Given the description of an element on the screen output the (x, y) to click on. 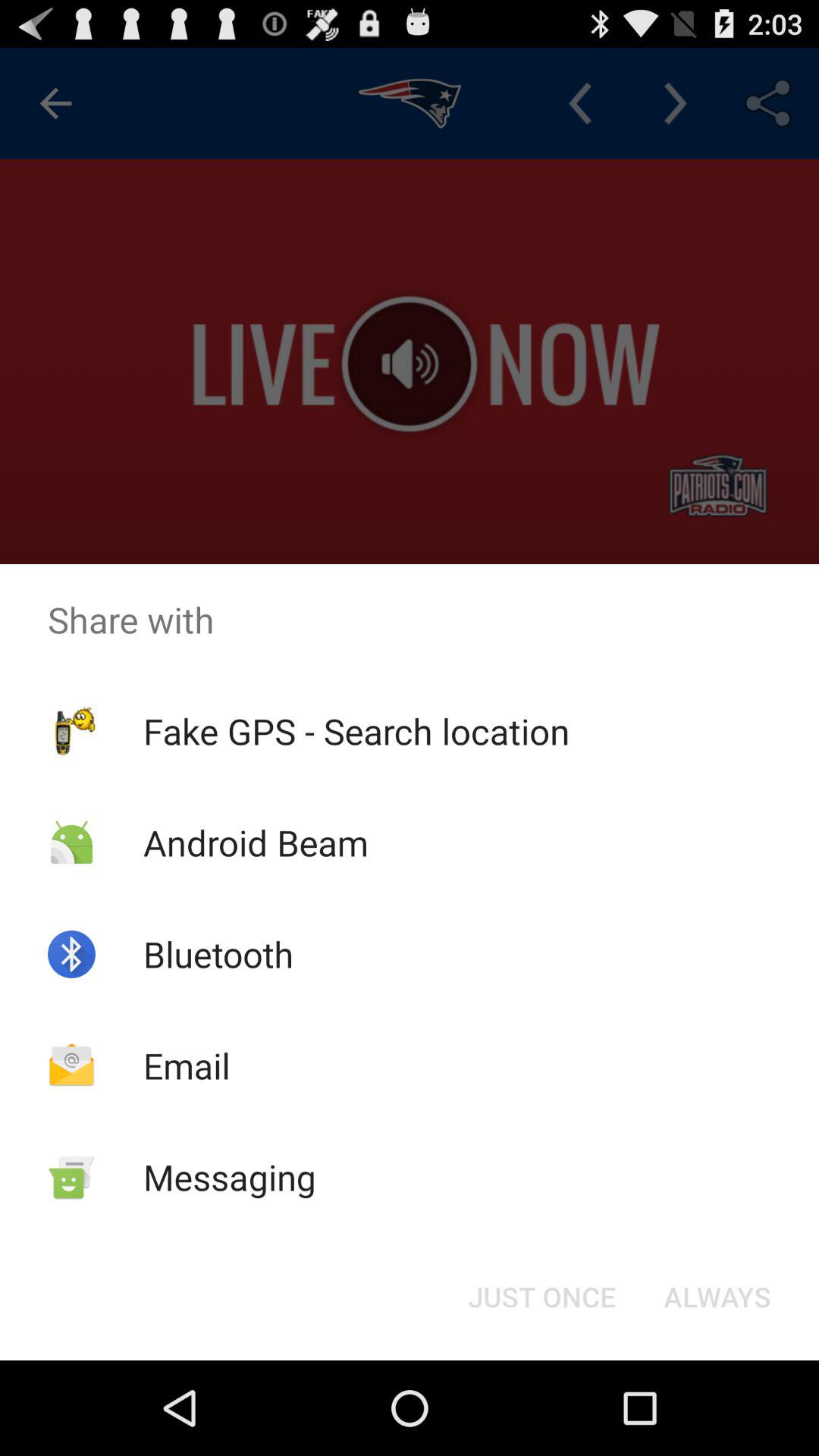
click just once icon (541, 1296)
